Given the description of an element on the screen output the (x, y) to click on. 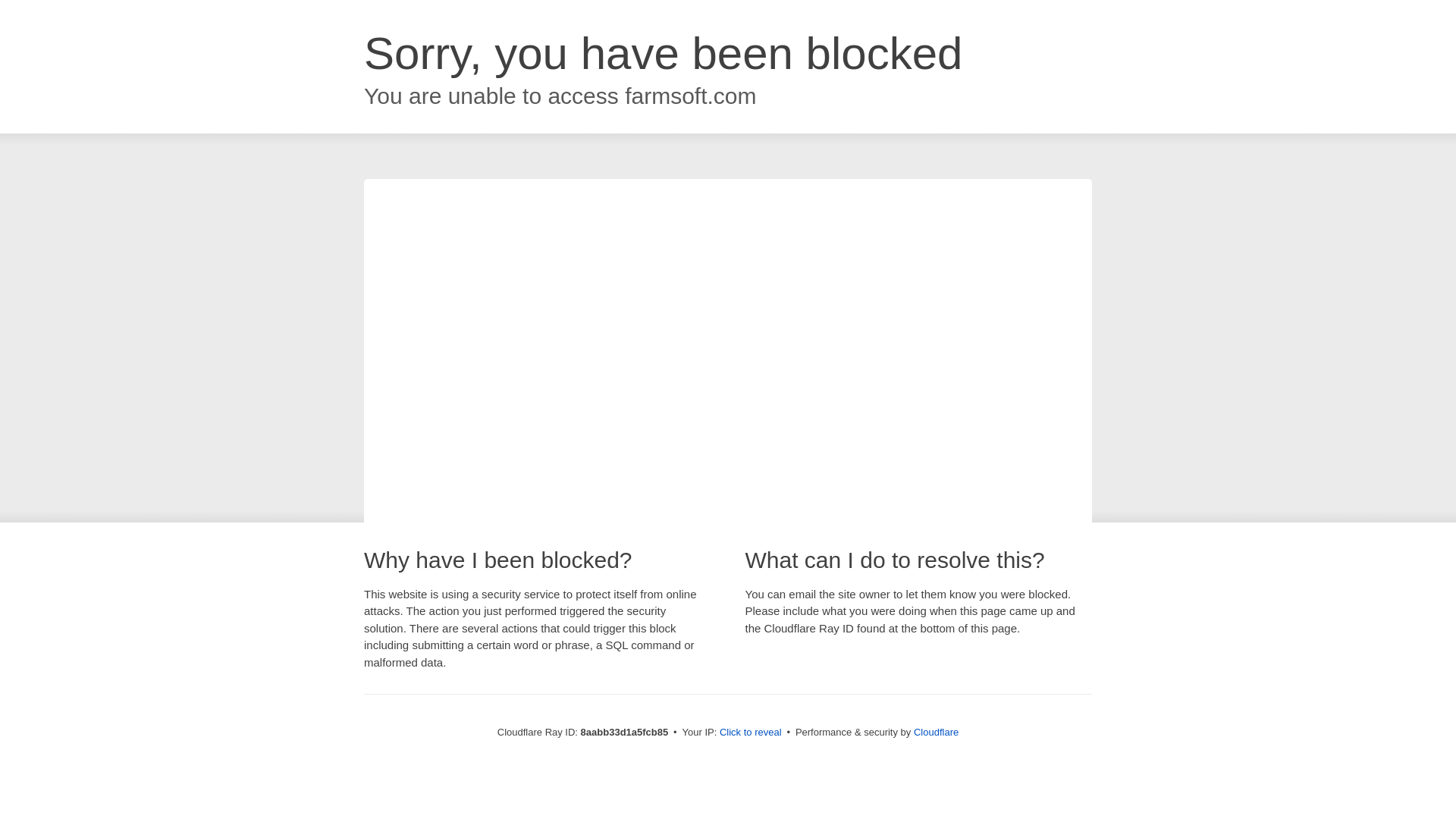
Cloudflare (936, 731)
Click to reveal (750, 732)
